Given the description of an element on the screen output the (x, y) to click on. 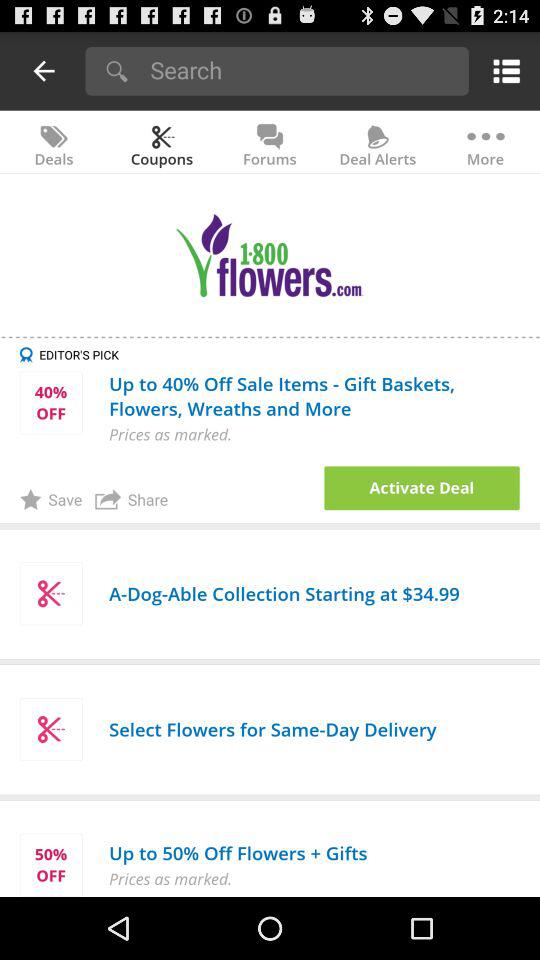
press editor's pick icon (279, 354)
